Given the description of an element on the screen output the (x, y) to click on. 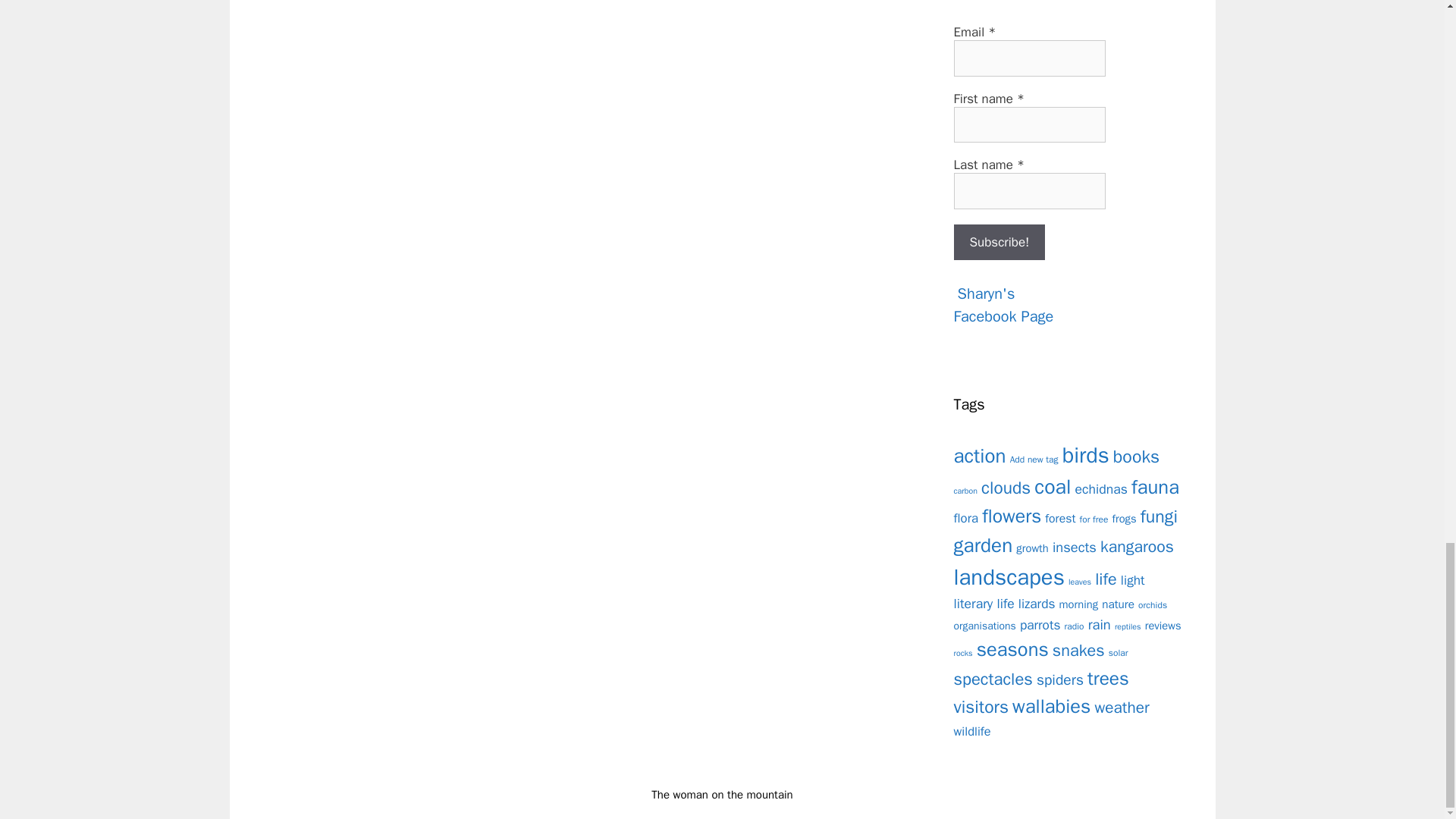
books (1135, 456)
Subscribe! (999, 242)
flowers (1011, 515)
carbon (965, 491)
First name (1029, 125)
Last name (1029, 190)
fauna (1155, 487)
flora (965, 518)
clouds (1003, 305)
coal (1005, 487)
for free (1051, 486)
Subscribe! (1094, 519)
birds (999, 242)
frogs (1085, 455)
